Given the description of an element on the screen output the (x, y) to click on. 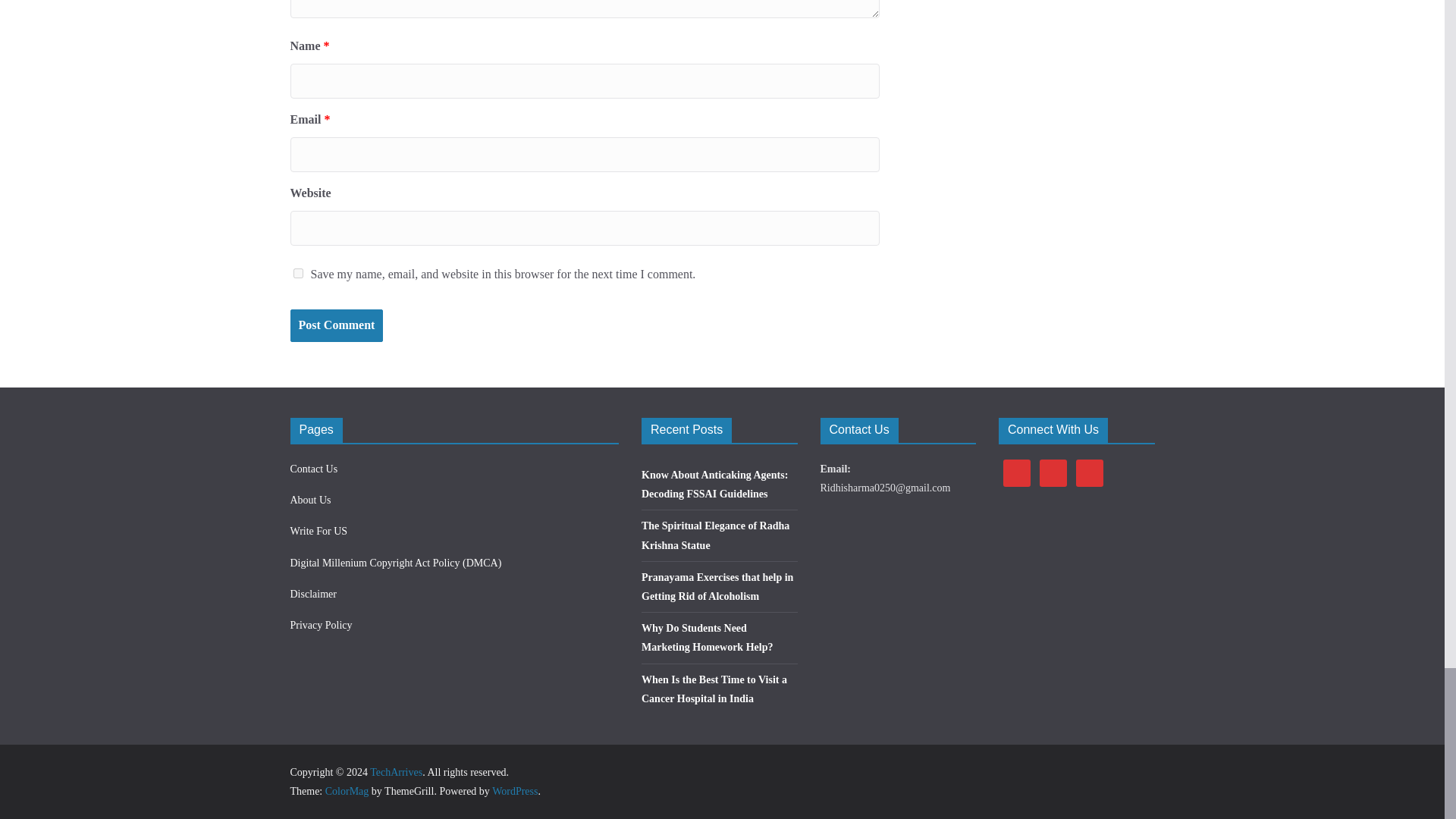
yes (297, 273)
Post Comment (335, 325)
